Given the description of an element on the screen output the (x, y) to click on. 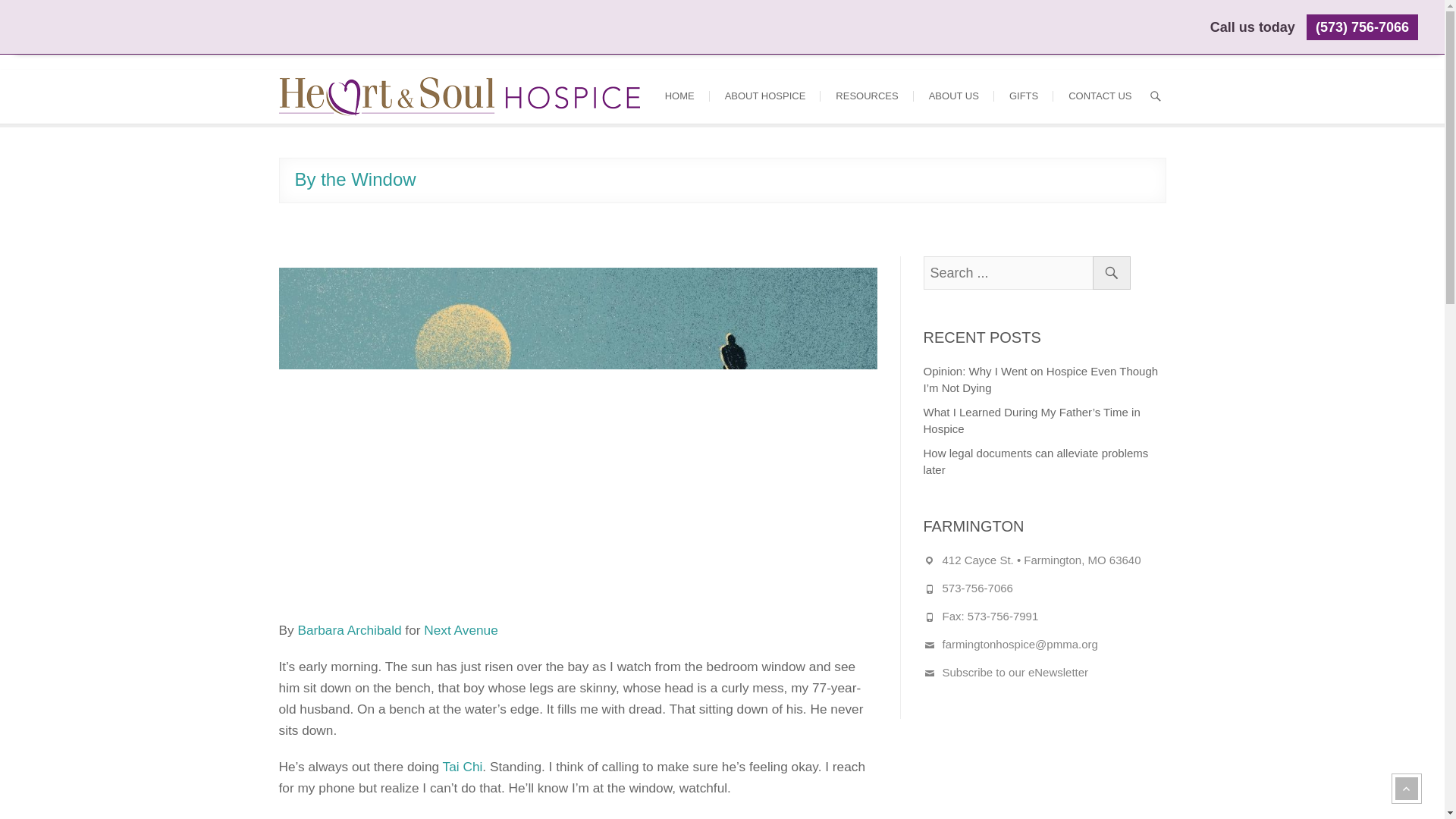
ABOUT HOSPICE (765, 95)
RESOURCES (866, 95)
Next Avenue (460, 630)
Barbara Archibald (349, 630)
CONTACT US (1099, 95)
ABOUT US (954, 95)
Fax: 573-756-7991 (990, 615)
GIFTS (1023, 95)
Tai Chi (462, 766)
HOME (679, 95)
